Given the description of an element on the screen output the (x, y) to click on. 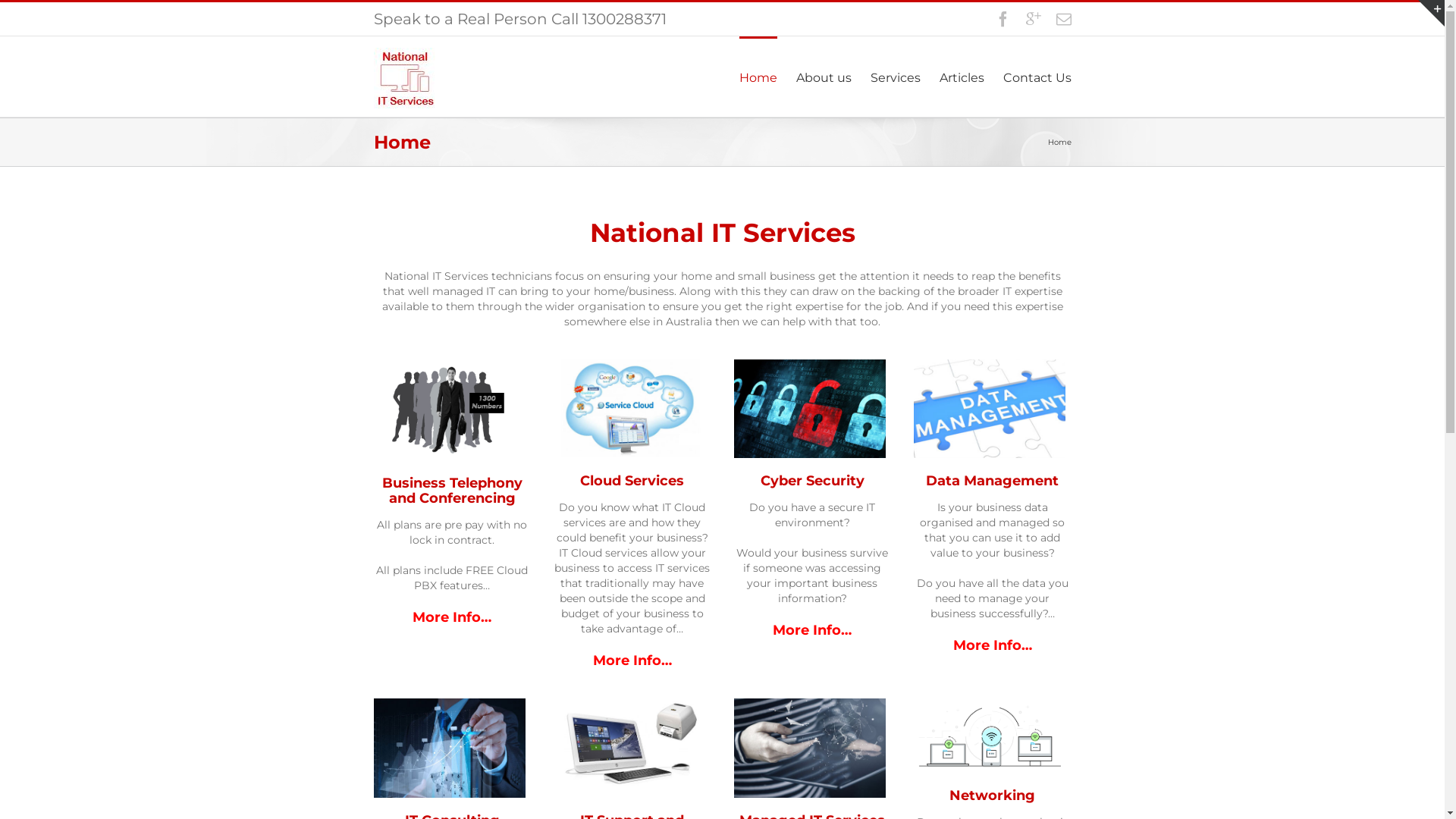
Articles Element type: text (960, 76)
Email Element type: hover (1062, 18)
Contact Us Element type: text (1036, 76)
Services Element type: text (895, 76)
Google+ Element type: hover (1032, 18)
Facebook Element type: hover (1002, 18)
Home Element type: text (757, 76)
About us Element type: text (823, 76)
